Given the description of an element on the screen output the (x, y) to click on. 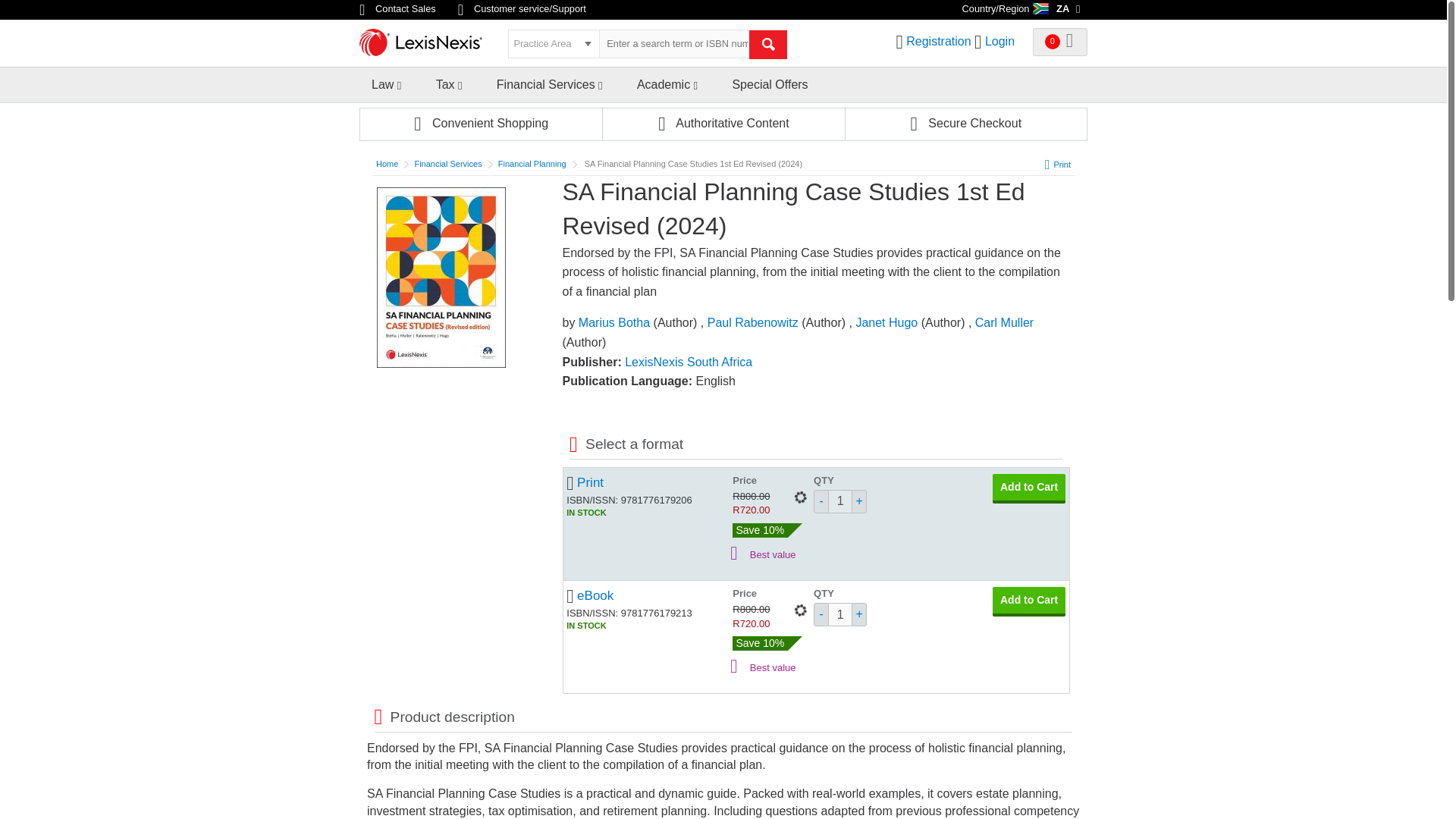
1 (839, 501)
0 (1059, 41)
Search (768, 44)
Contact Sales (398, 8)
Search (768, 44)
Registration (938, 41)
Login (999, 41)
Law (382, 83)
1 (839, 614)
